Given the description of an element on the screen output the (x, y) to click on. 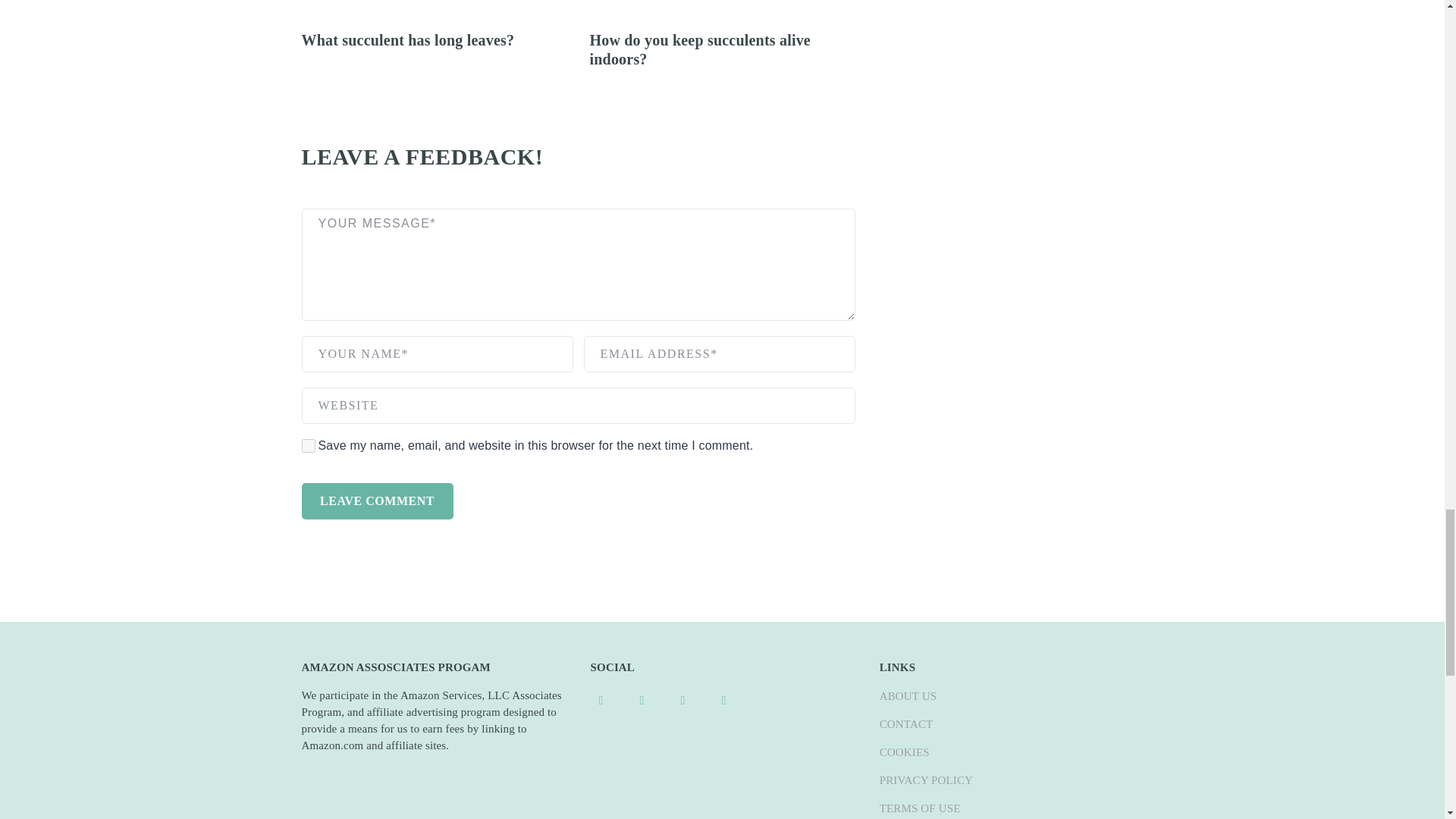
Leave Comment (376, 501)
ABOUT US (908, 695)
Leave Comment (376, 501)
How do you keep succulents alive indoors? (699, 49)
What succulent has long leaves? (408, 39)
What succulent has long leaves? (408, 39)
yes (308, 445)
How do you keep succulents alive indoors? (699, 49)
